Given the description of an element on the screen output the (x, y) to click on. 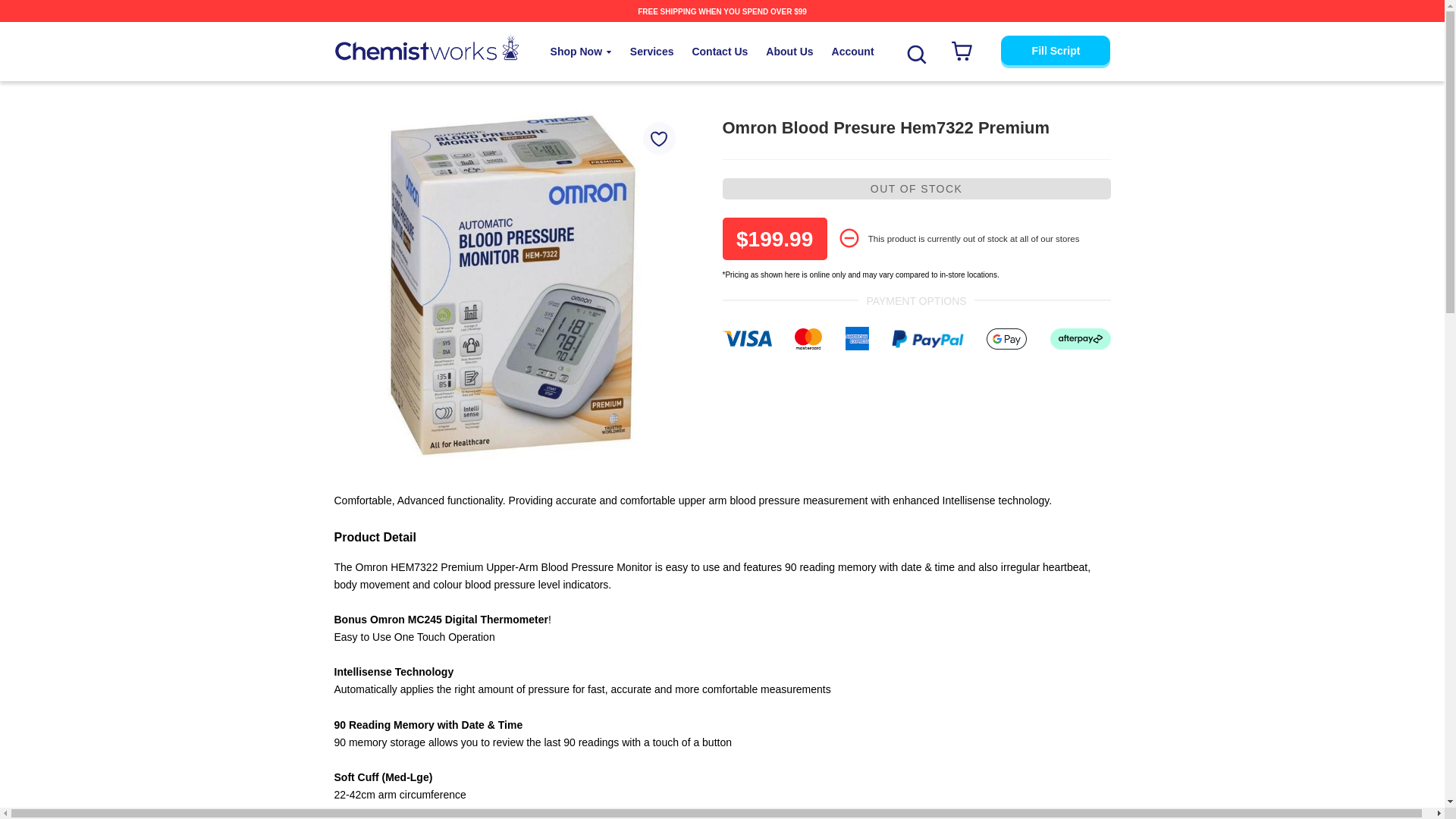
Account (852, 51)
About Us (789, 51)
Services (651, 51)
Account (852, 51)
Shop Now (581, 51)
Services (651, 51)
Contact Us (719, 51)
Chemistworks Pharmacy (425, 47)
Chemistworks Pharmacy (425, 47)
Fill Script (1055, 50)
